Given the description of an element on the screen output the (x, y) to click on. 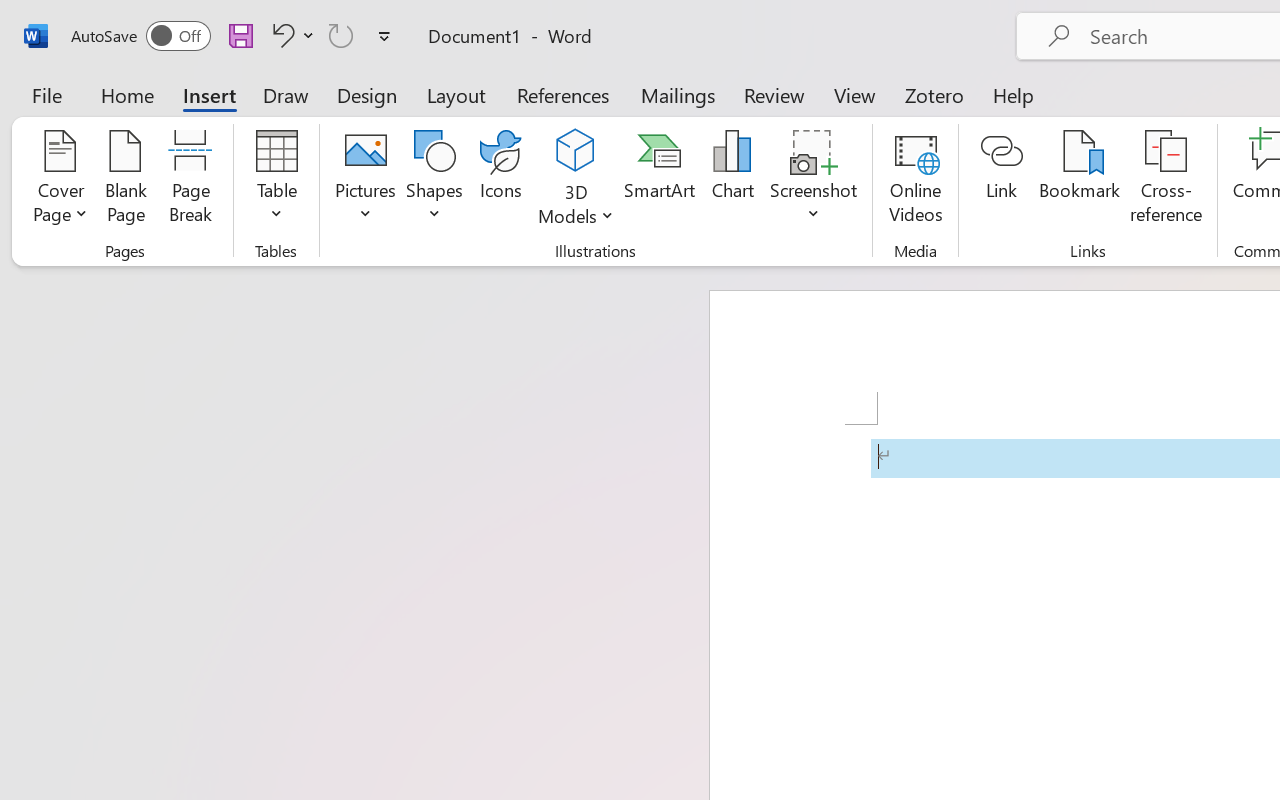
Screenshot (813, 179)
Undo Apply Quick Style (280, 35)
Icons (500, 179)
Can't Repeat (341, 35)
Bookmark... (1079, 179)
Table (276, 179)
3D Models (576, 151)
Online Videos... (915, 179)
